Given the description of an element on the screen output the (x, y) to click on. 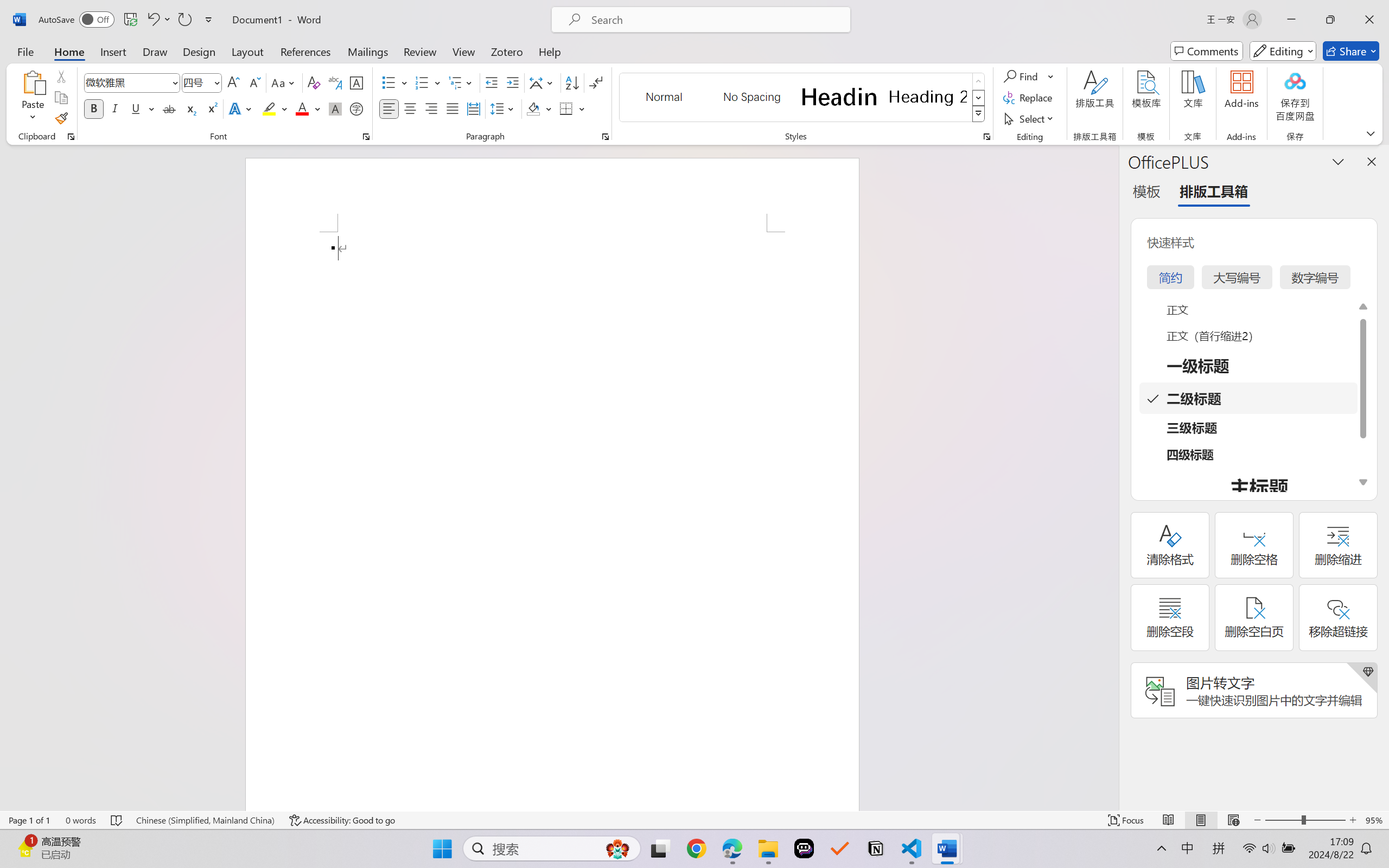
AutomationID: QuickStylesGallery (802, 97)
